Given the description of an element on the screen output the (x, y) to click on. 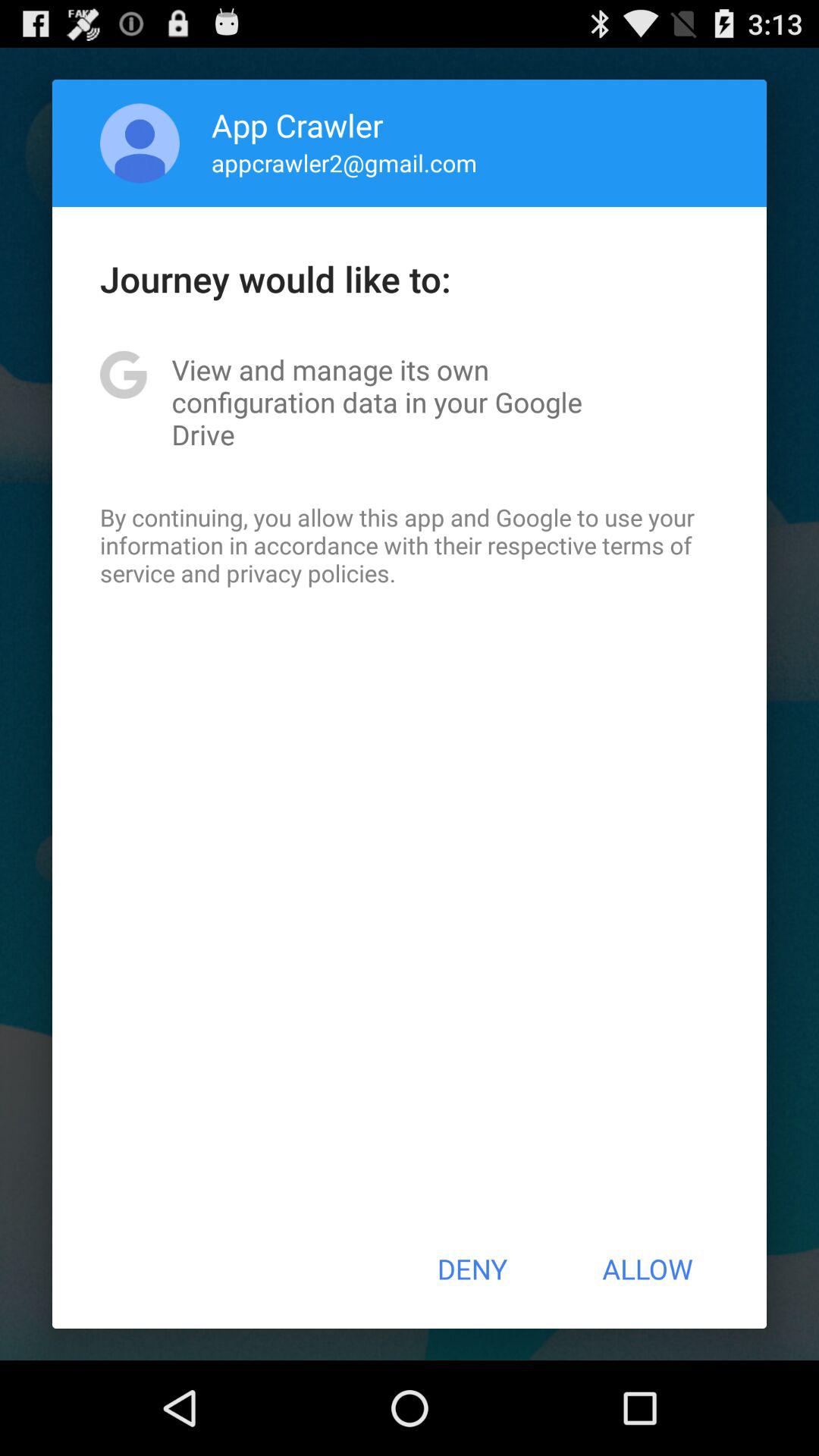
open the button to the left of allow item (471, 1268)
